Given the description of an element on the screen output the (x, y) to click on. 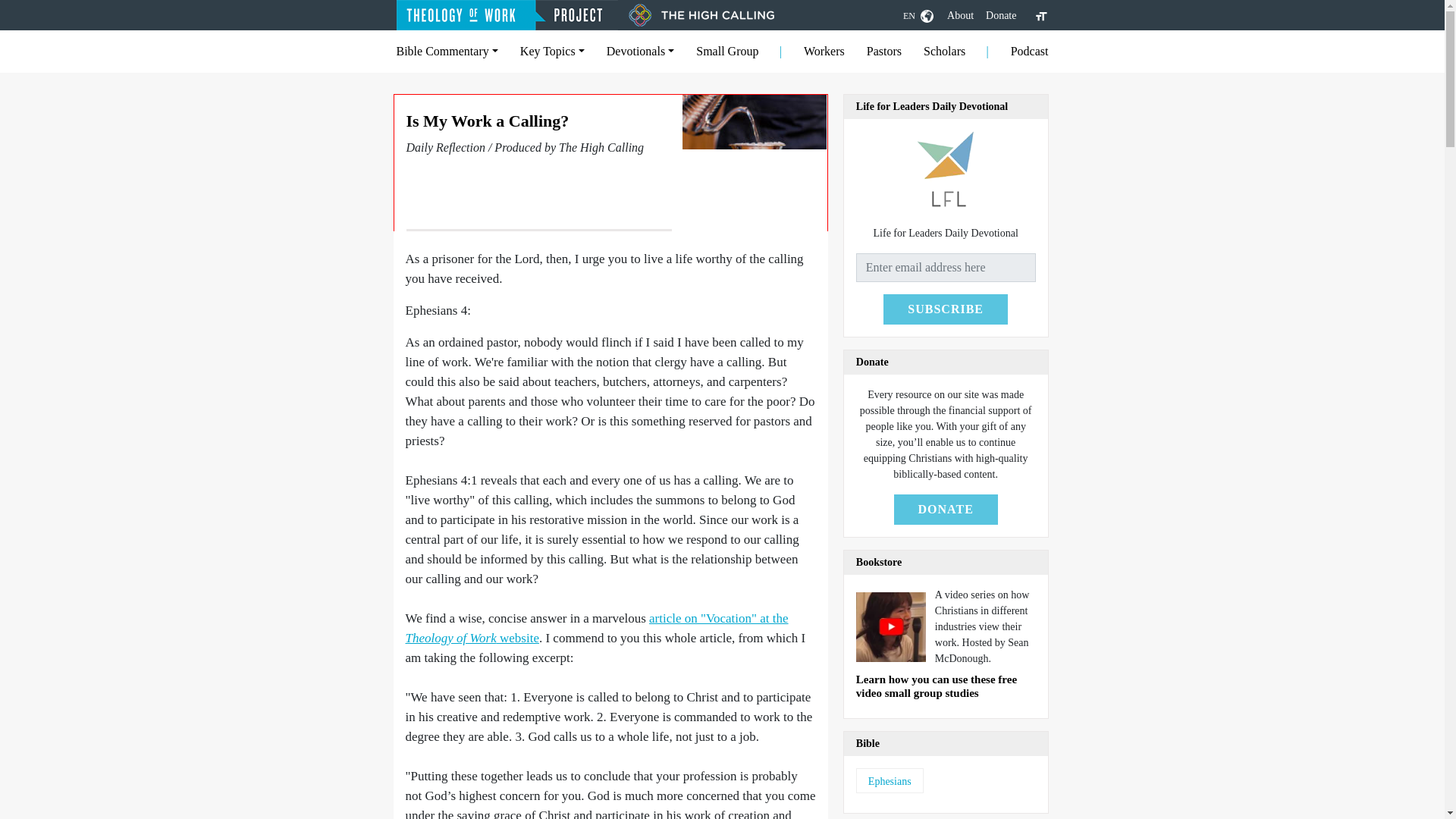
Bible Commentary (446, 51)
Donate (1000, 15)
Donate (1000, 15)
About (959, 15)
About (959, 15)
EN (917, 15)
